Given the description of an element on the screen output the (x, y) to click on. 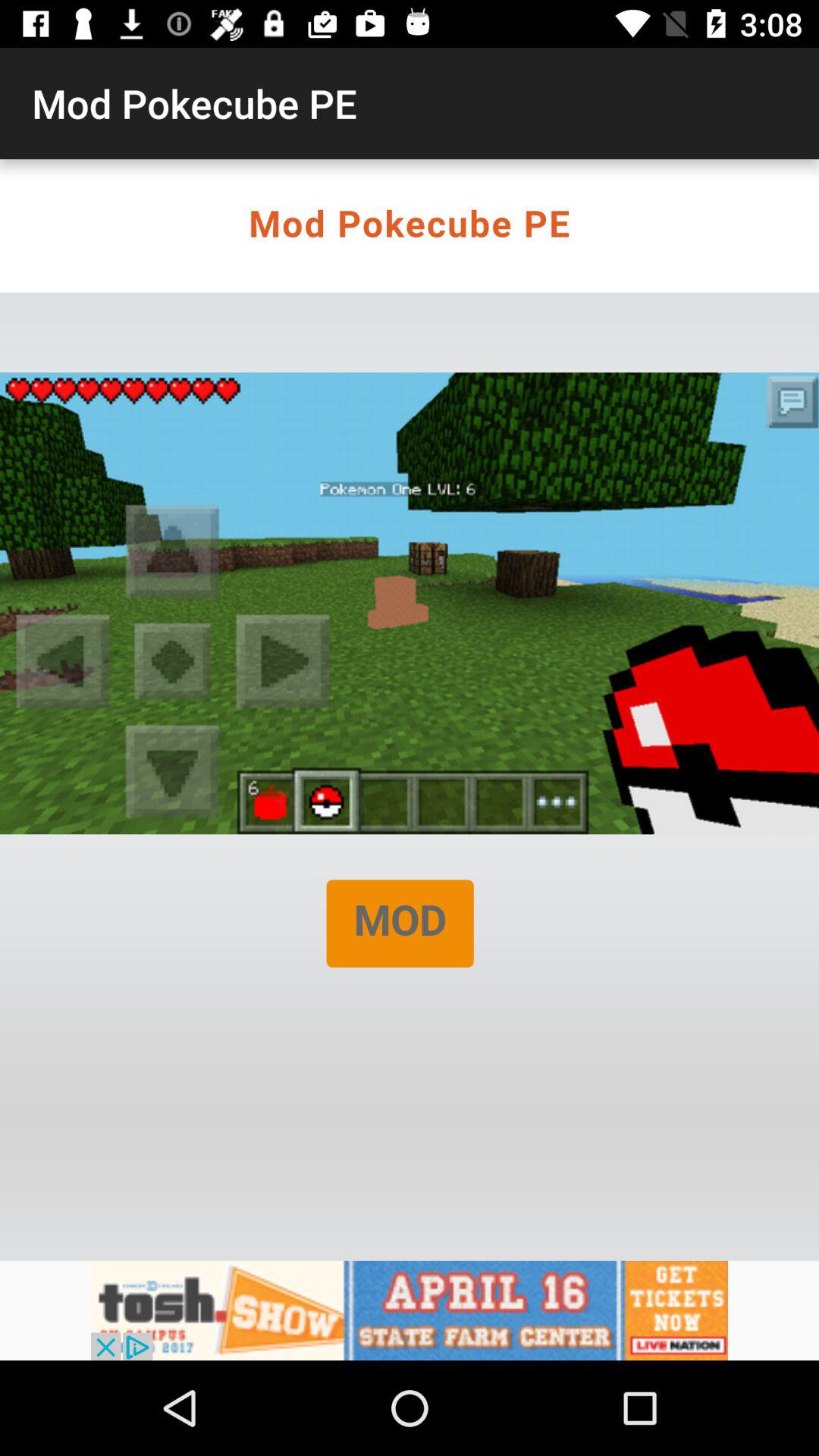
go to link in advertisement (409, 1310)
